Given the description of an element on the screen output the (x, y) to click on. 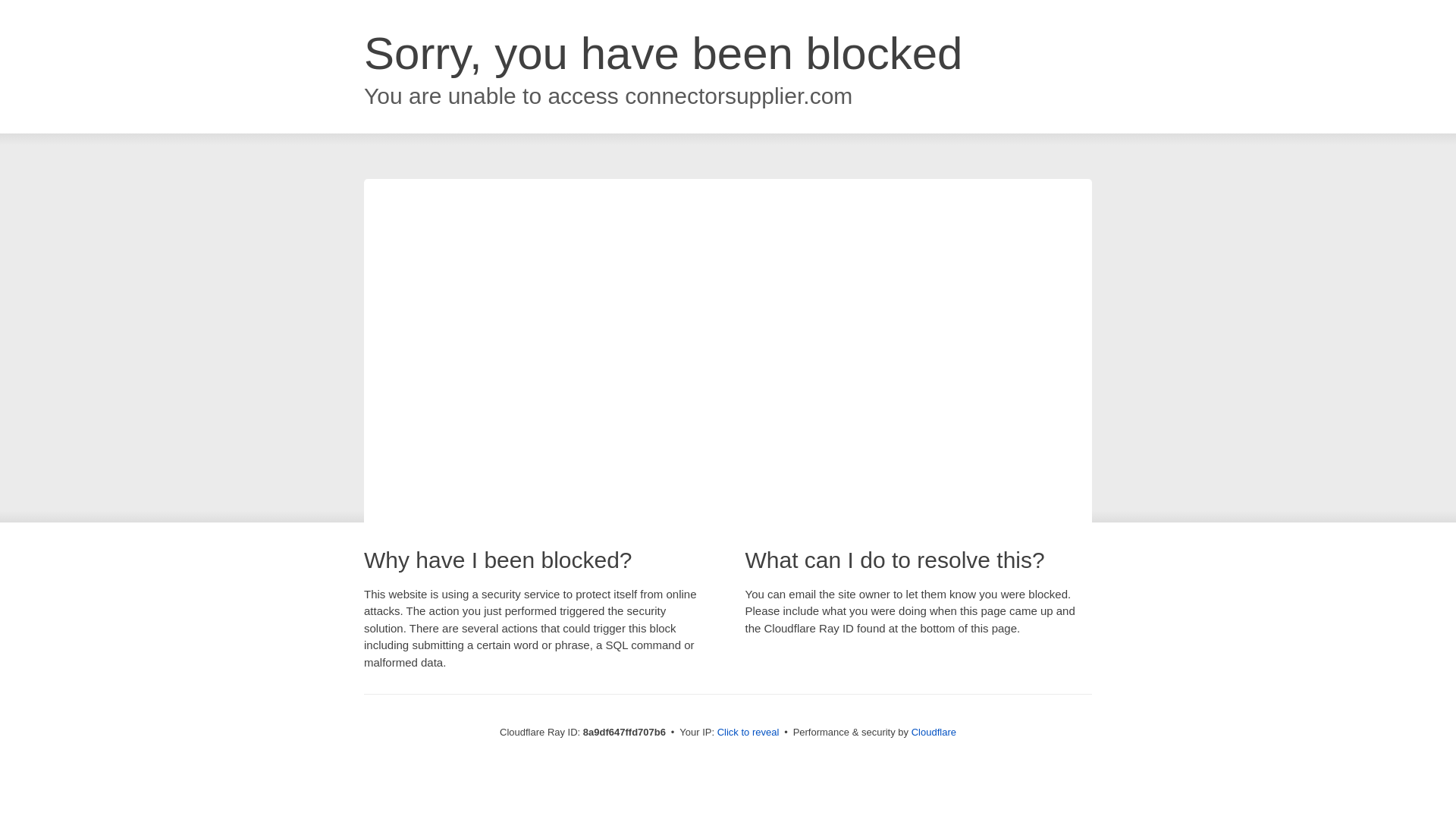
Click to reveal (747, 732)
Cloudflare (933, 731)
